Given the description of an element on the screen output the (x, y) to click on. 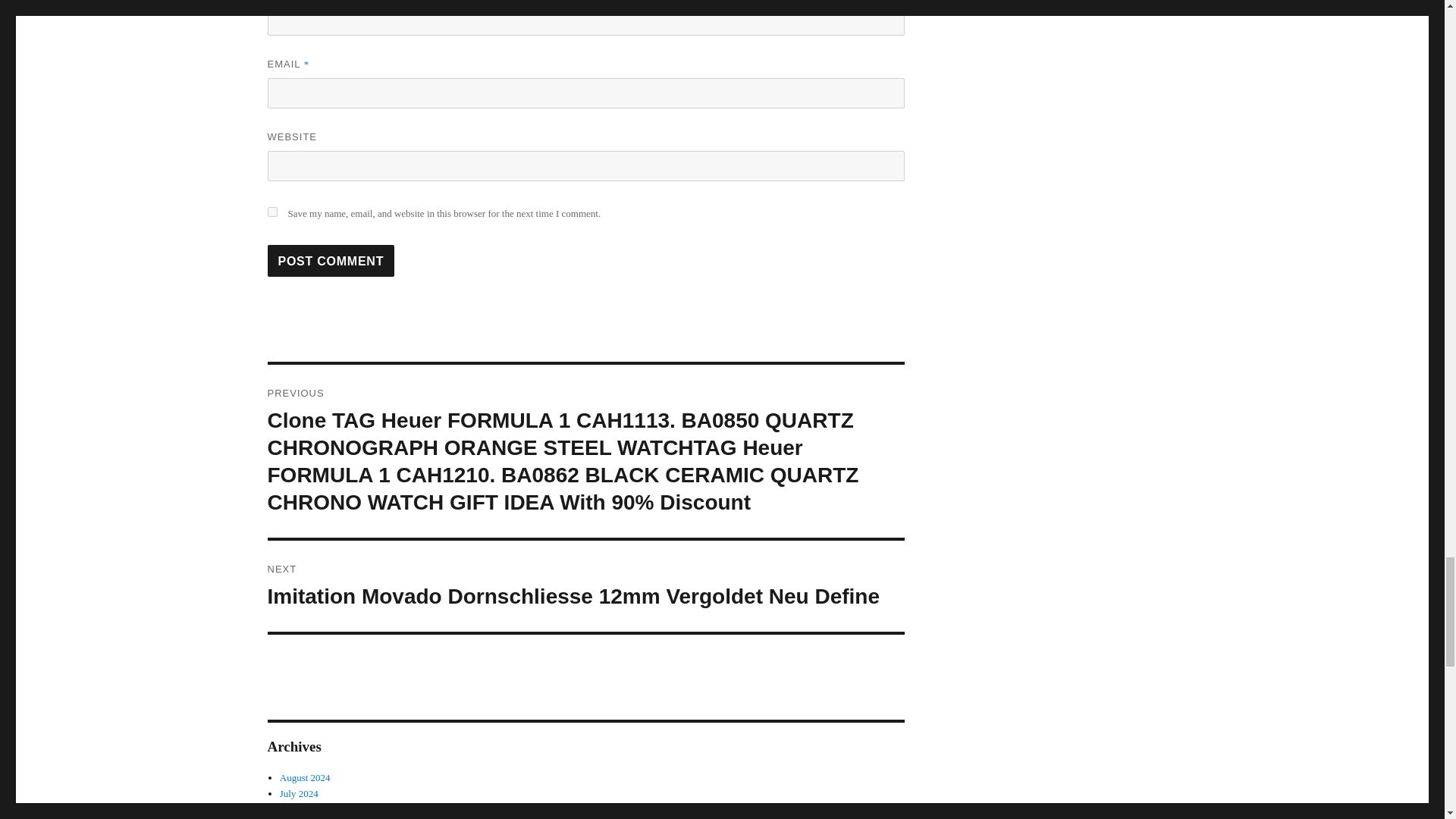
yes (271, 212)
August 2024 (304, 777)
June 2024 (299, 808)
July 2024 (298, 793)
Post Comment (330, 260)
Post Comment (330, 260)
